Given the description of an element on the screen output the (x, y) to click on. 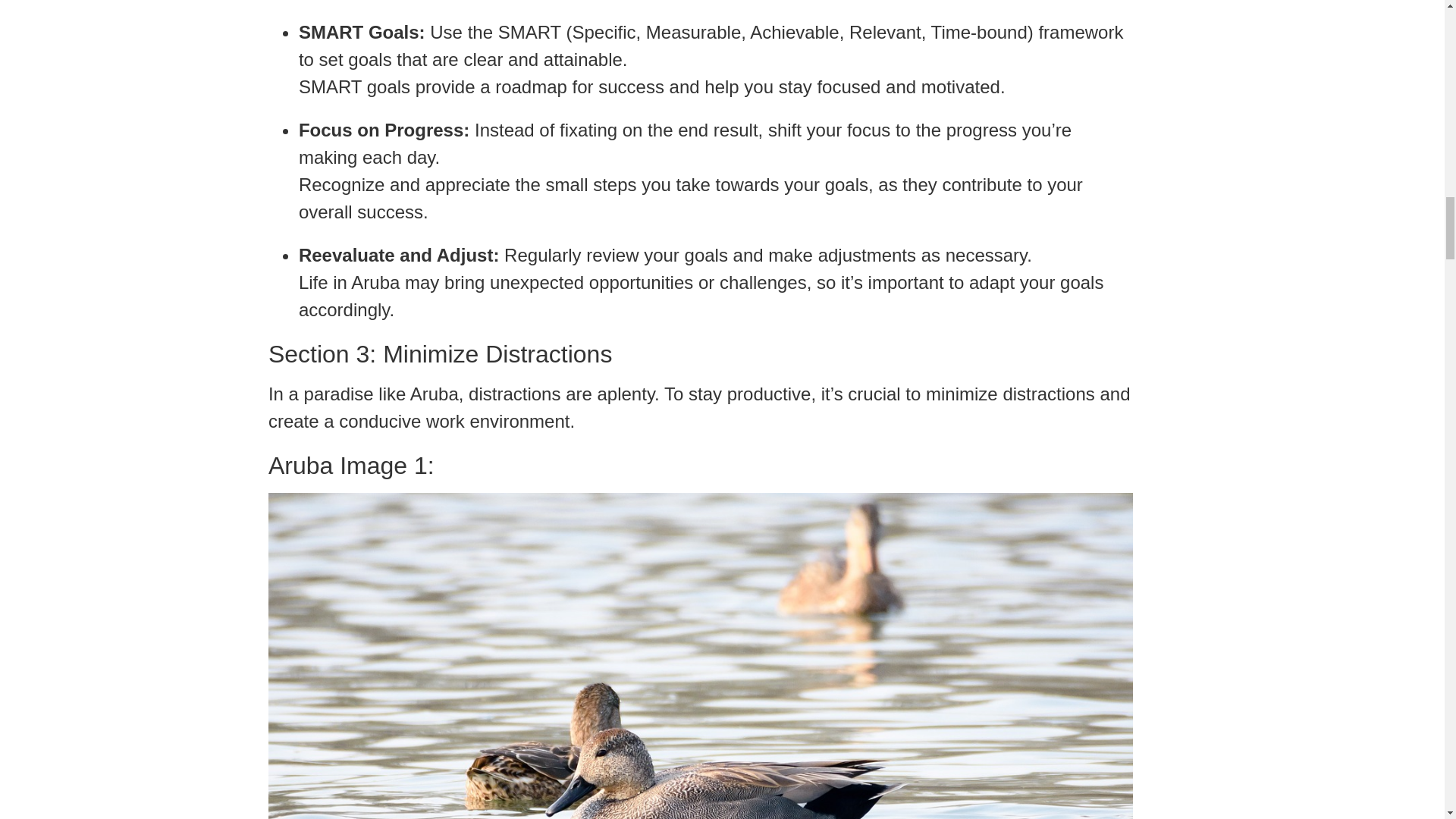
Section 3: Minimize Distractions (699, 353)
Aruba Image 1: (699, 465)
